Given the description of an element on the screen output the (x, y) to click on. 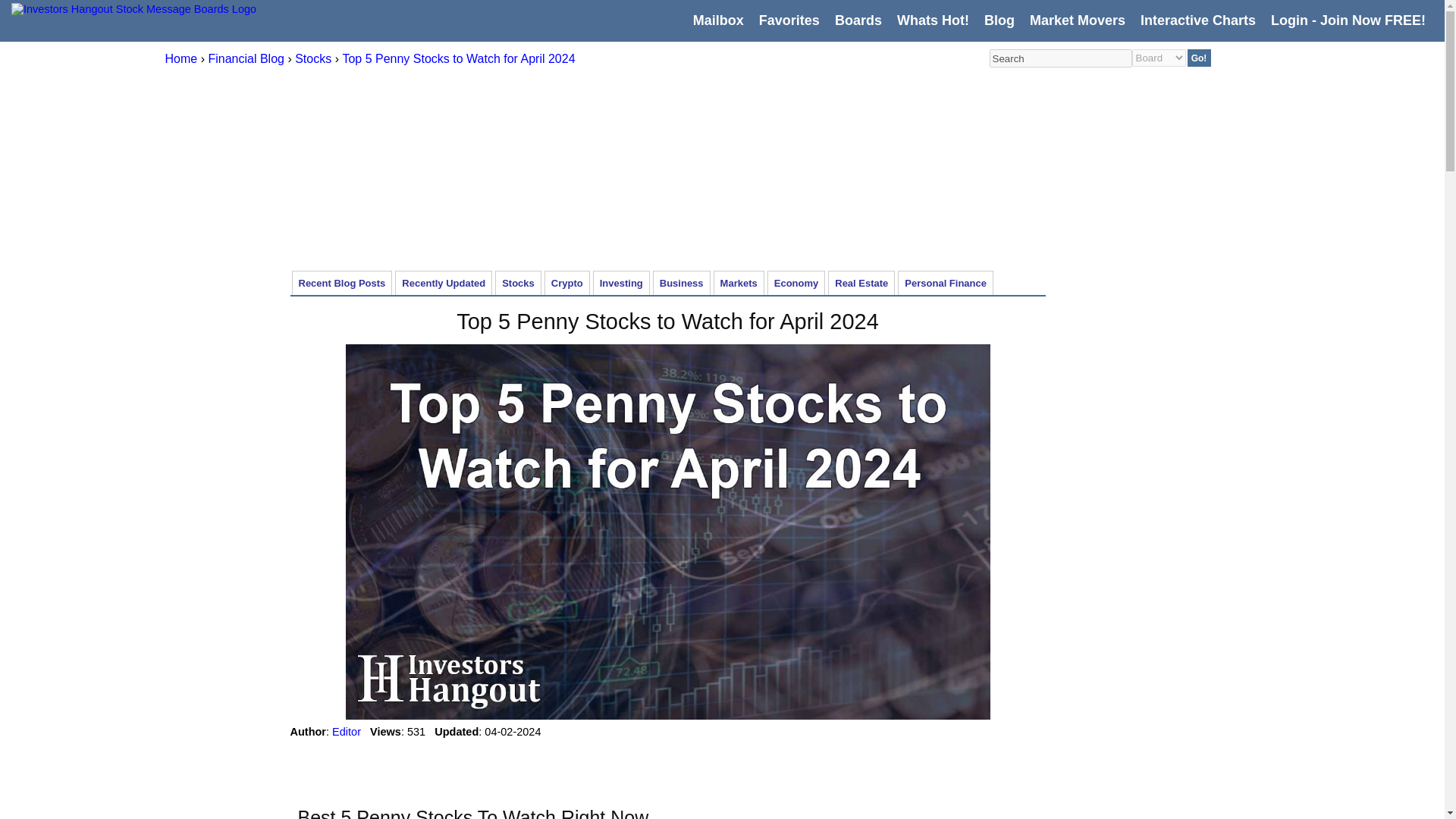
Financial Blog (245, 58)
Stocks (313, 58)
Login - Join Now FREE! (1348, 20)
Business (681, 282)
Stocks (518, 282)
Go! (1199, 57)
Search (1059, 58)
Top 5 Penny Stocks to Watch for April 2024 (458, 58)
Crypto (566, 282)
Favorites (788, 20)
